Given the description of an element on the screen output the (x, y) to click on. 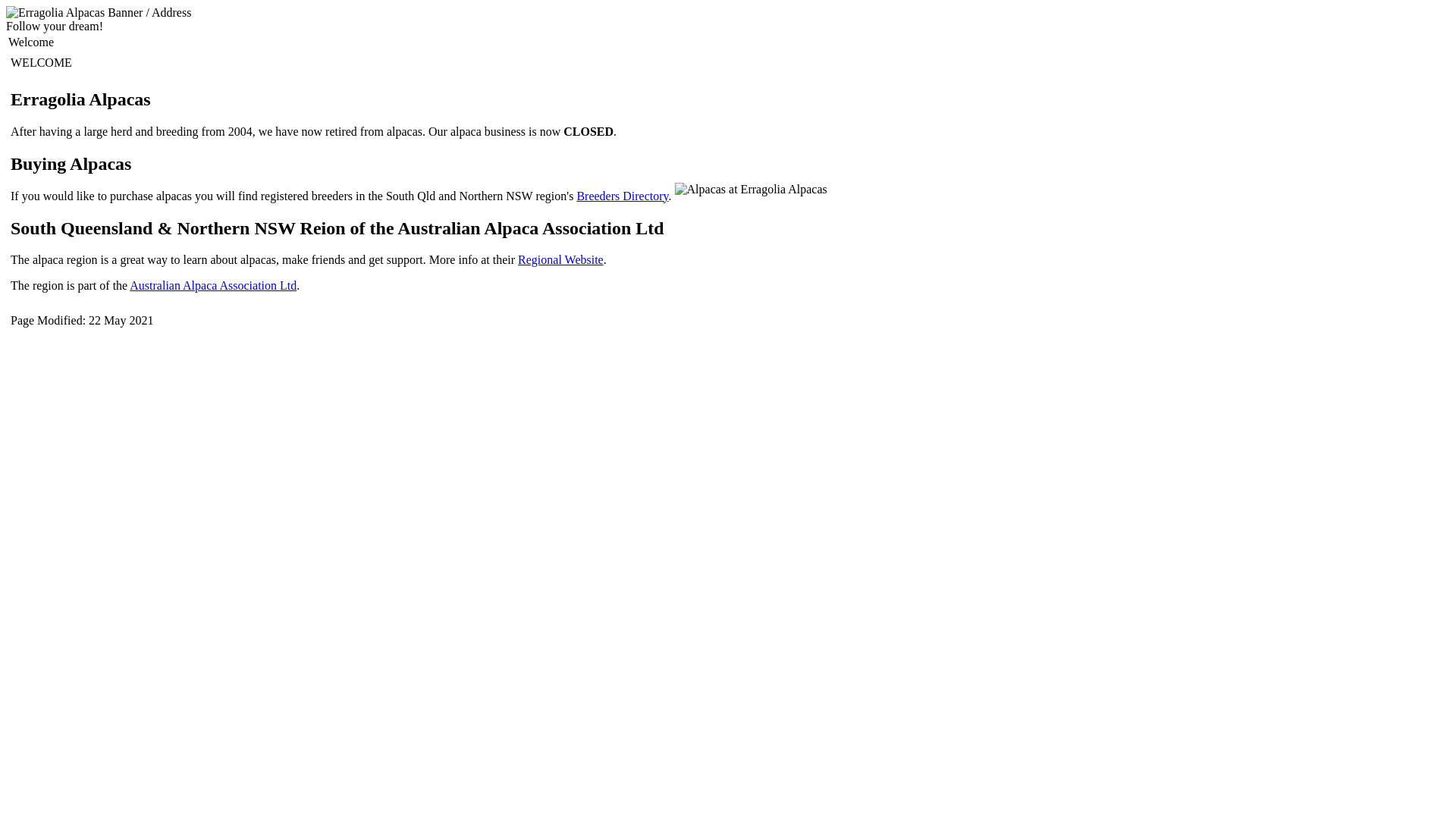
Regional Website Element type: text (560, 259)
Breeders Directory Element type: text (622, 195)
Australian Alpaca Association Ltd Element type: text (212, 285)
